Given the description of an element on the screen output the (x, y) to click on. 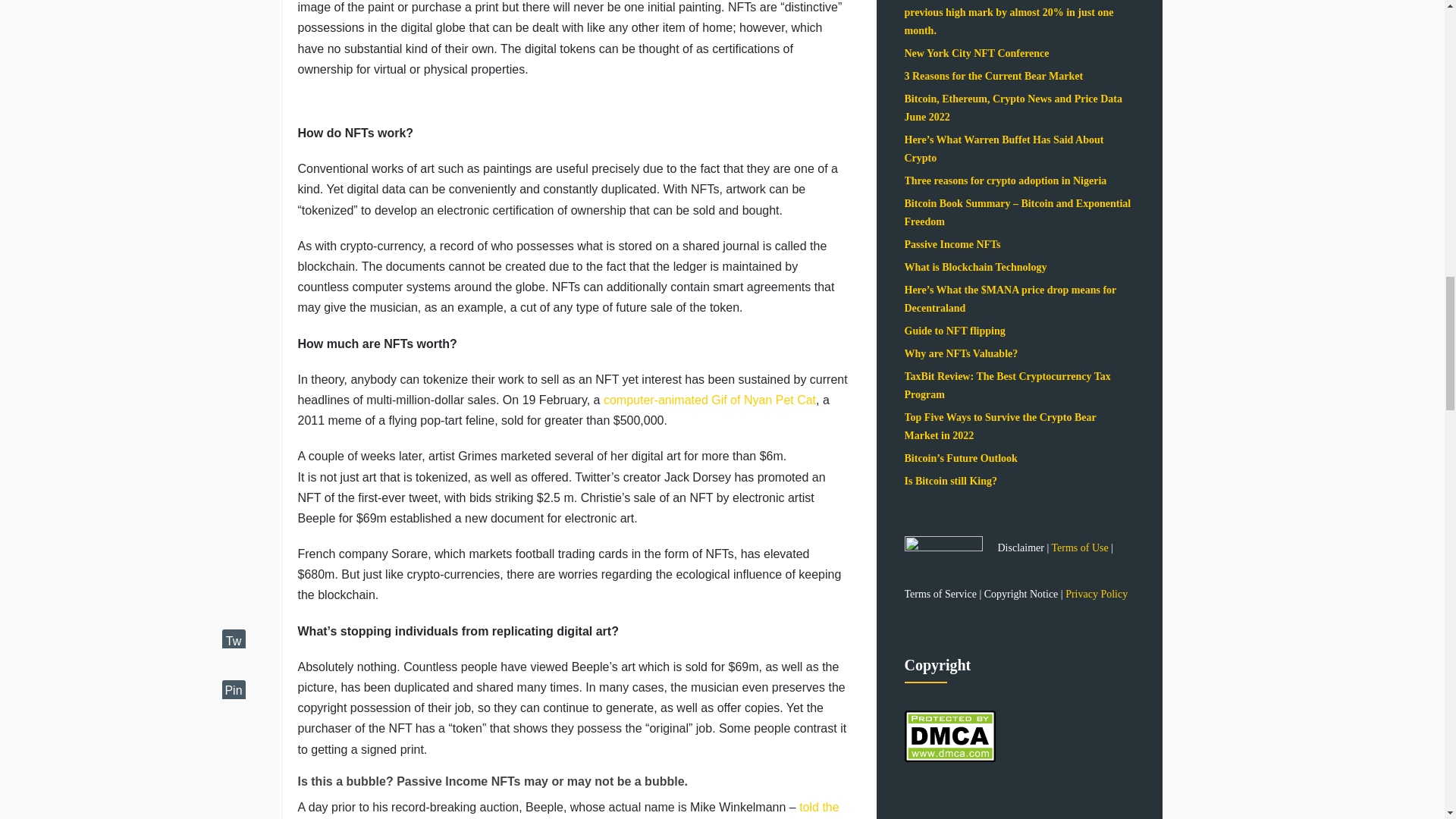
DMCA.com Protection Status (949, 767)
